Given the description of an element on the screen output the (x, y) to click on. 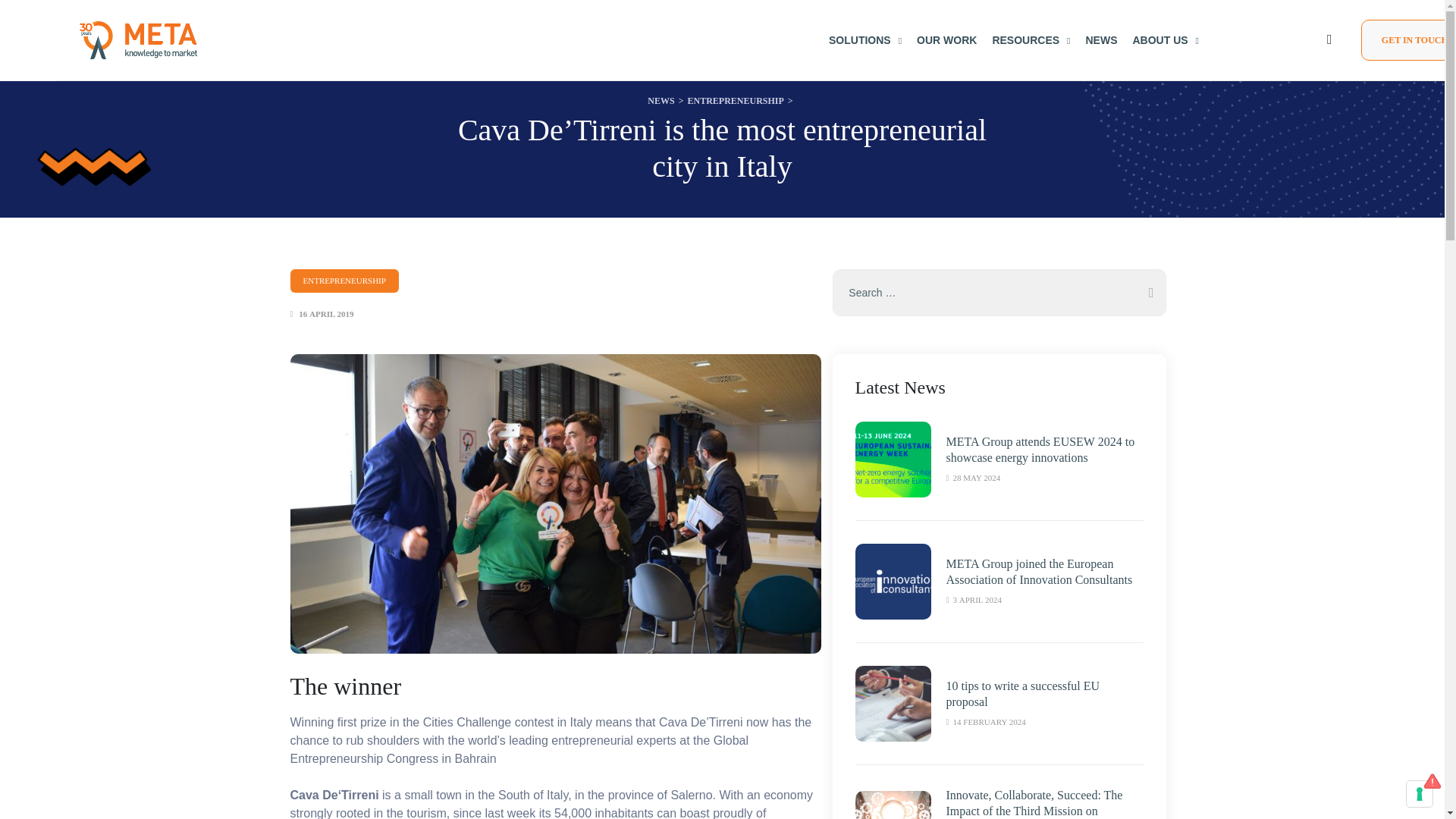
Go to News. (660, 100)
Go to the Entrepreneurship category archives. (735, 100)
RESOURCES (1030, 40)
SOLUTIONS (864, 40)
